Given the description of an element on the screen output the (x, y) to click on. 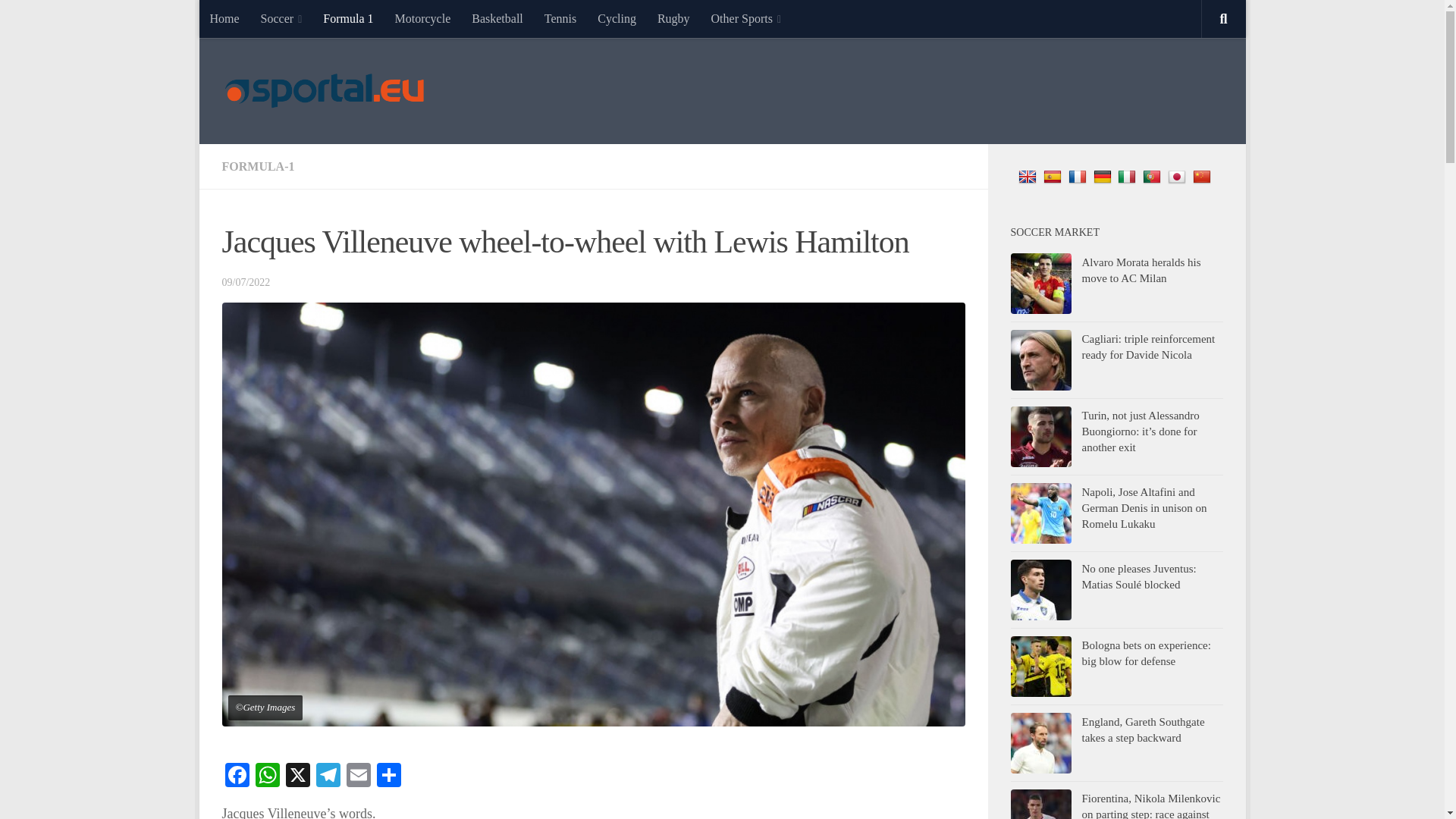
Tennis (560, 18)
Home (223, 18)
Email (357, 776)
WhatsApp (266, 776)
Soccer (281, 18)
Facebook (236, 776)
FORMULA-1 (257, 165)
Telegram (327, 776)
Motorcycle (422, 18)
Basketball (497, 18)
Skip to content (258, 20)
X (297, 776)
Cycling (616, 18)
Facebook (236, 776)
Telegram (327, 776)
